Given the description of an element on the screen output the (x, y) to click on. 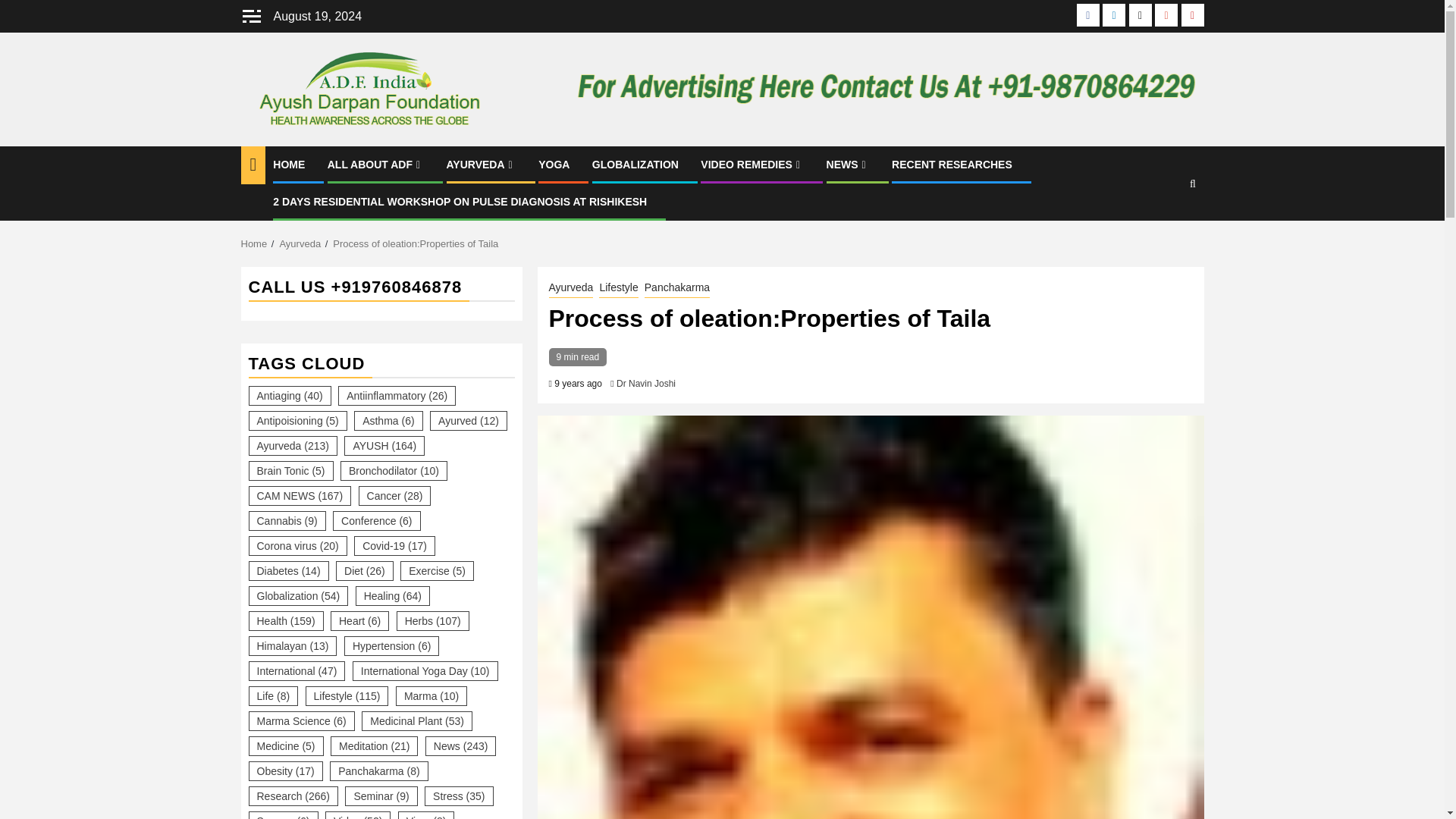
Facebook (1088, 15)
2 DAYS RESIDENTIAL WORKSHOP ON PULSE DIAGNOSIS AT RISHIKESH (459, 201)
YOGA (553, 164)
Search (1163, 229)
Ayurveda (299, 243)
Home (254, 243)
Twitter (1140, 15)
GLOBALIZATION (635, 164)
NEWS (848, 164)
Youtube (1192, 15)
